Given the description of an element on the screen output the (x, y) to click on. 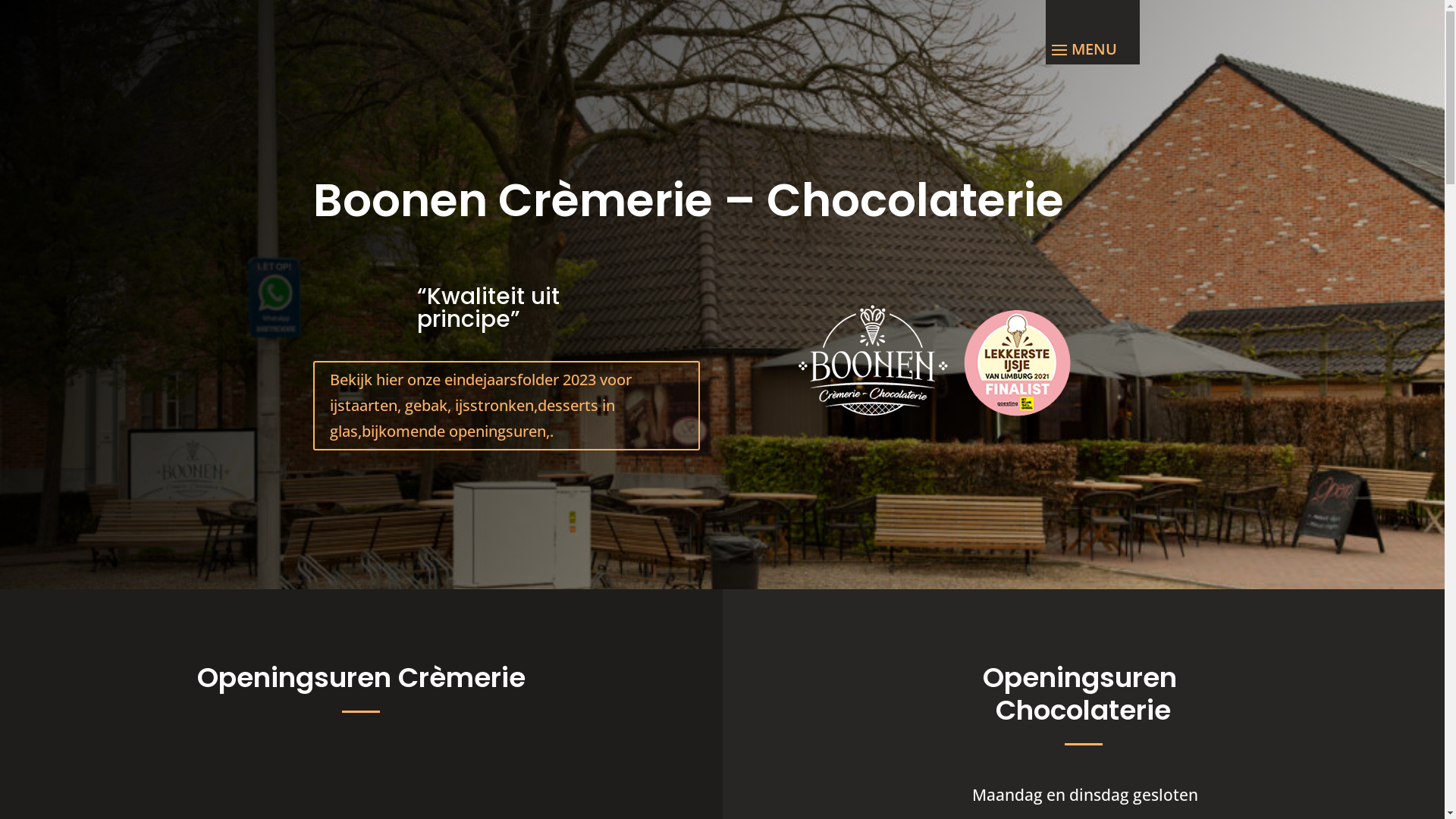
22-60-Logo_Boonen_hbvl_Wit_WEBGEVEL.fw Element type: hover (937, 363)
